Given the description of an element on the screen output the (x, y) to click on. 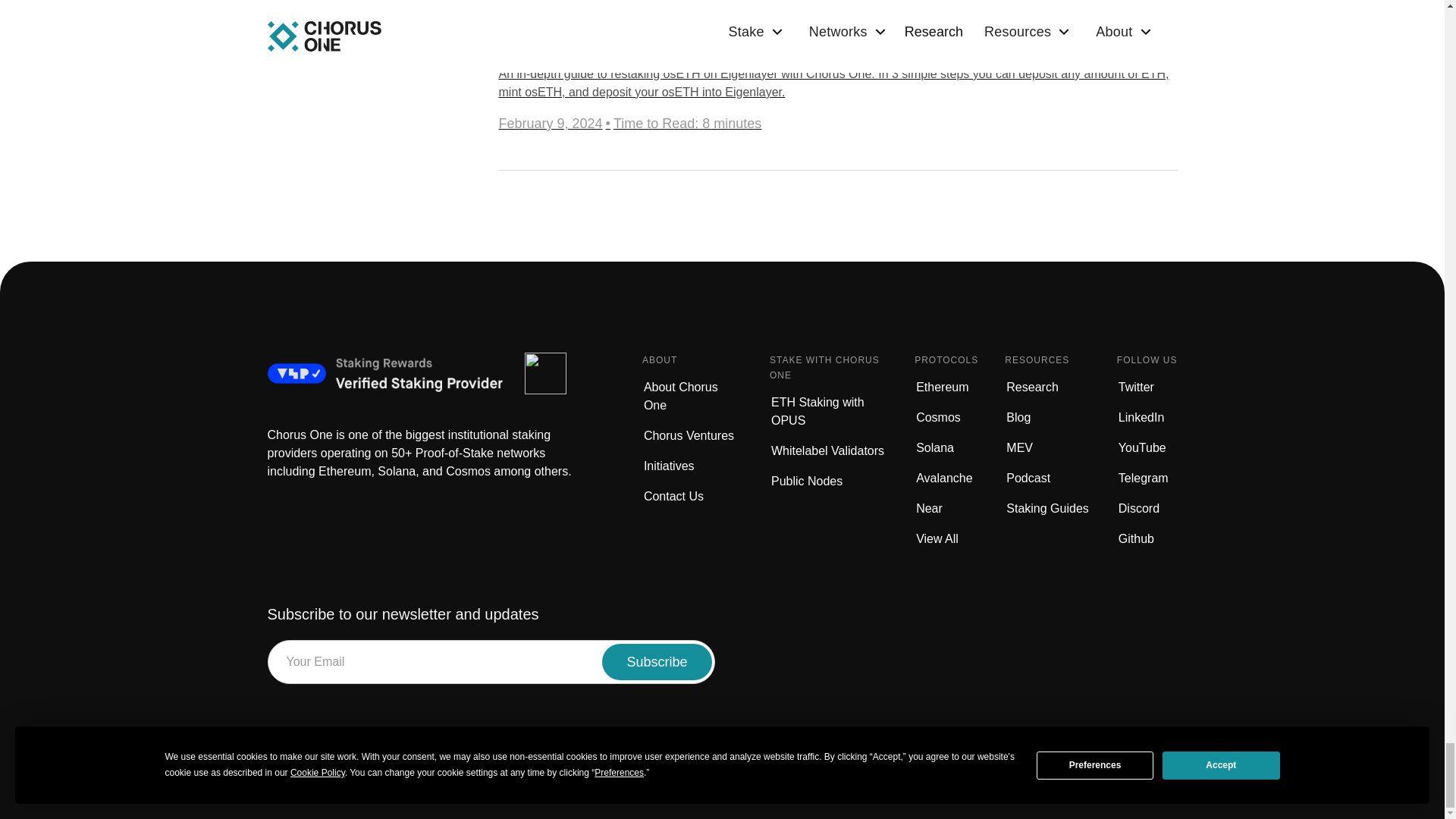
Subscribe (656, 661)
